Given the description of an element on the screen output the (x, y) to click on. 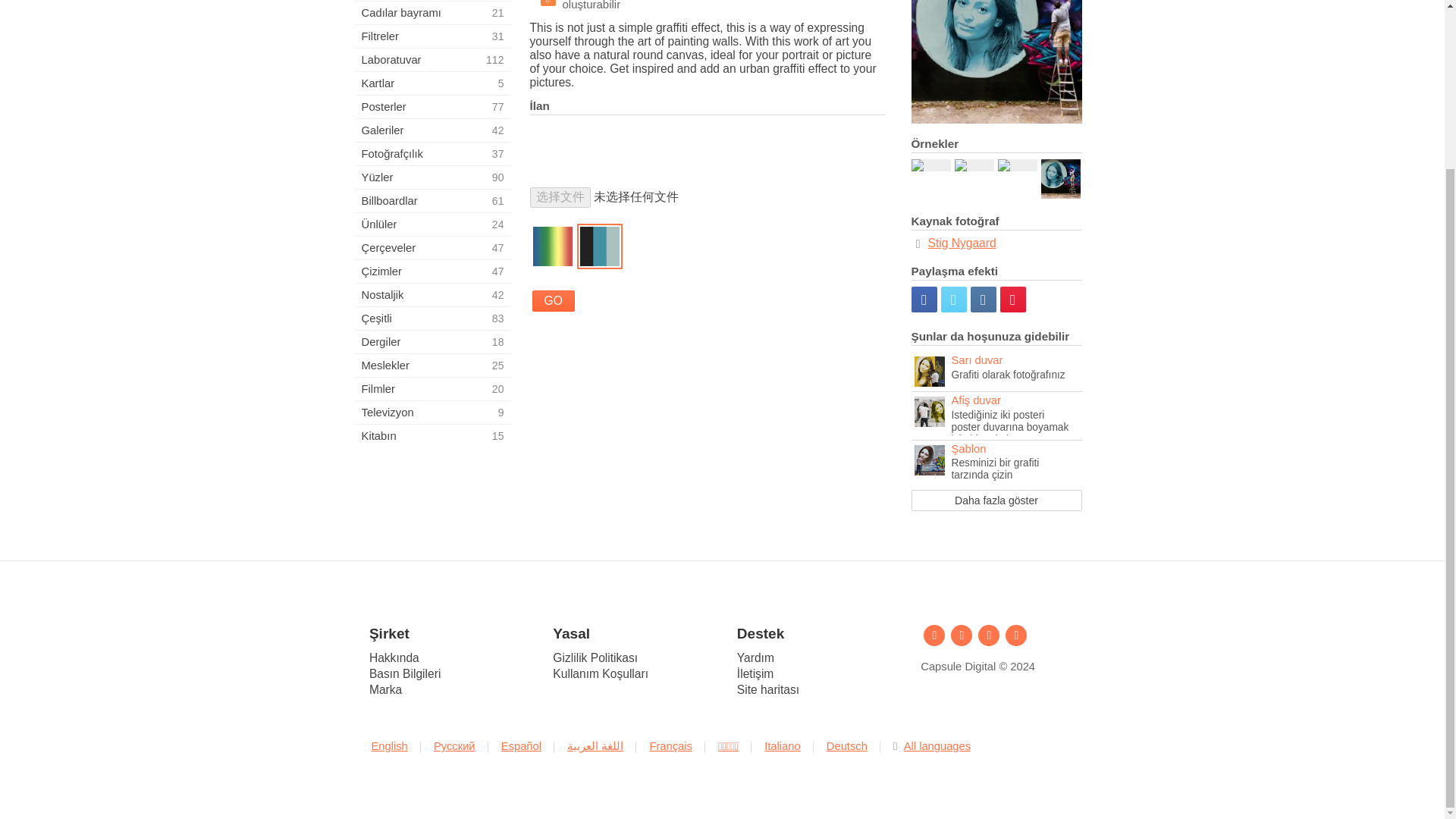
GO (433, 388)
Stig Nygaard (433, 364)
